Given the description of an element on the screen output the (x, y) to click on. 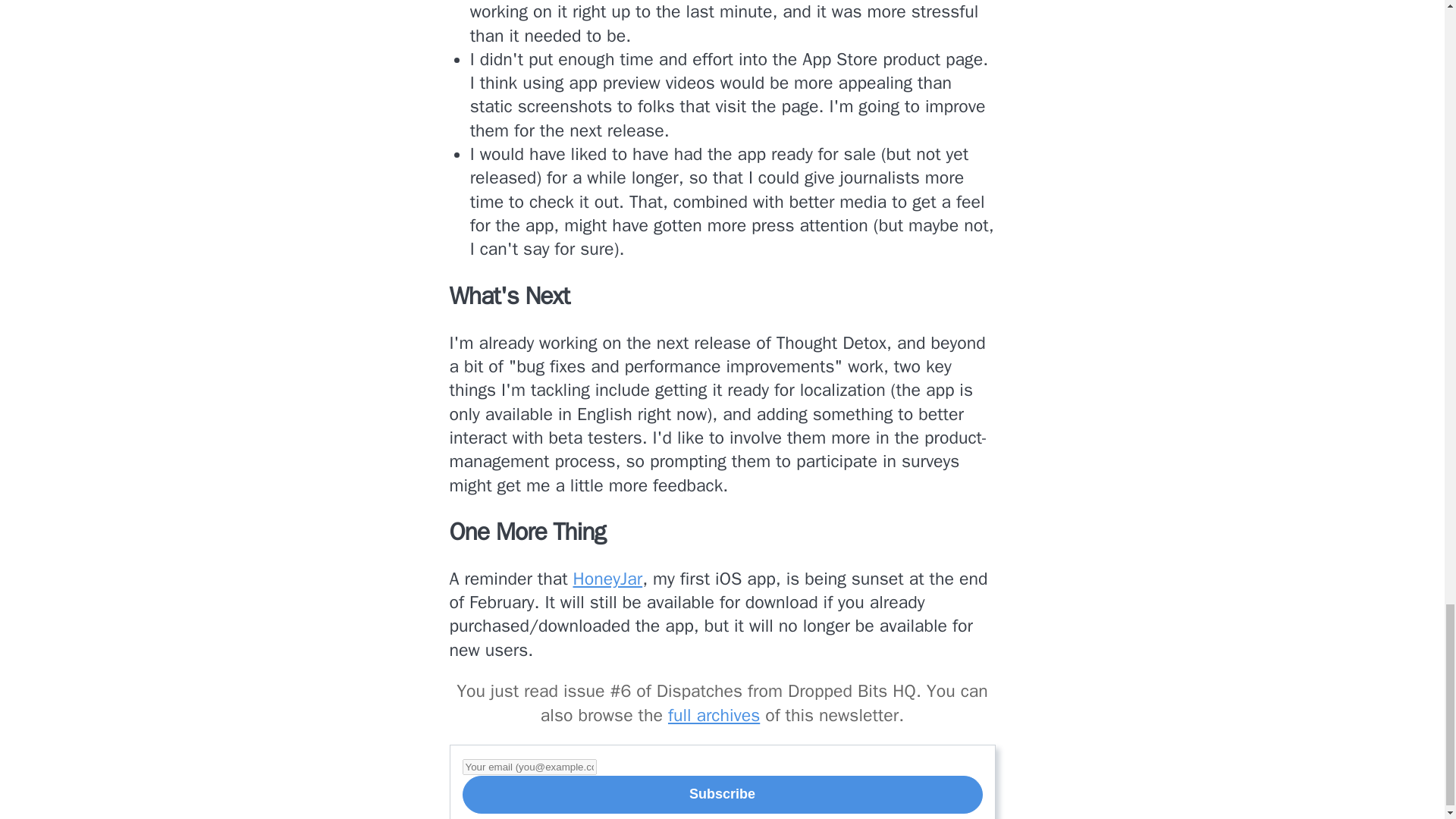
full archives (714, 715)
HoneyJar (608, 578)
Subscribe (722, 794)
